Given the description of an element on the screen output the (x, y) to click on. 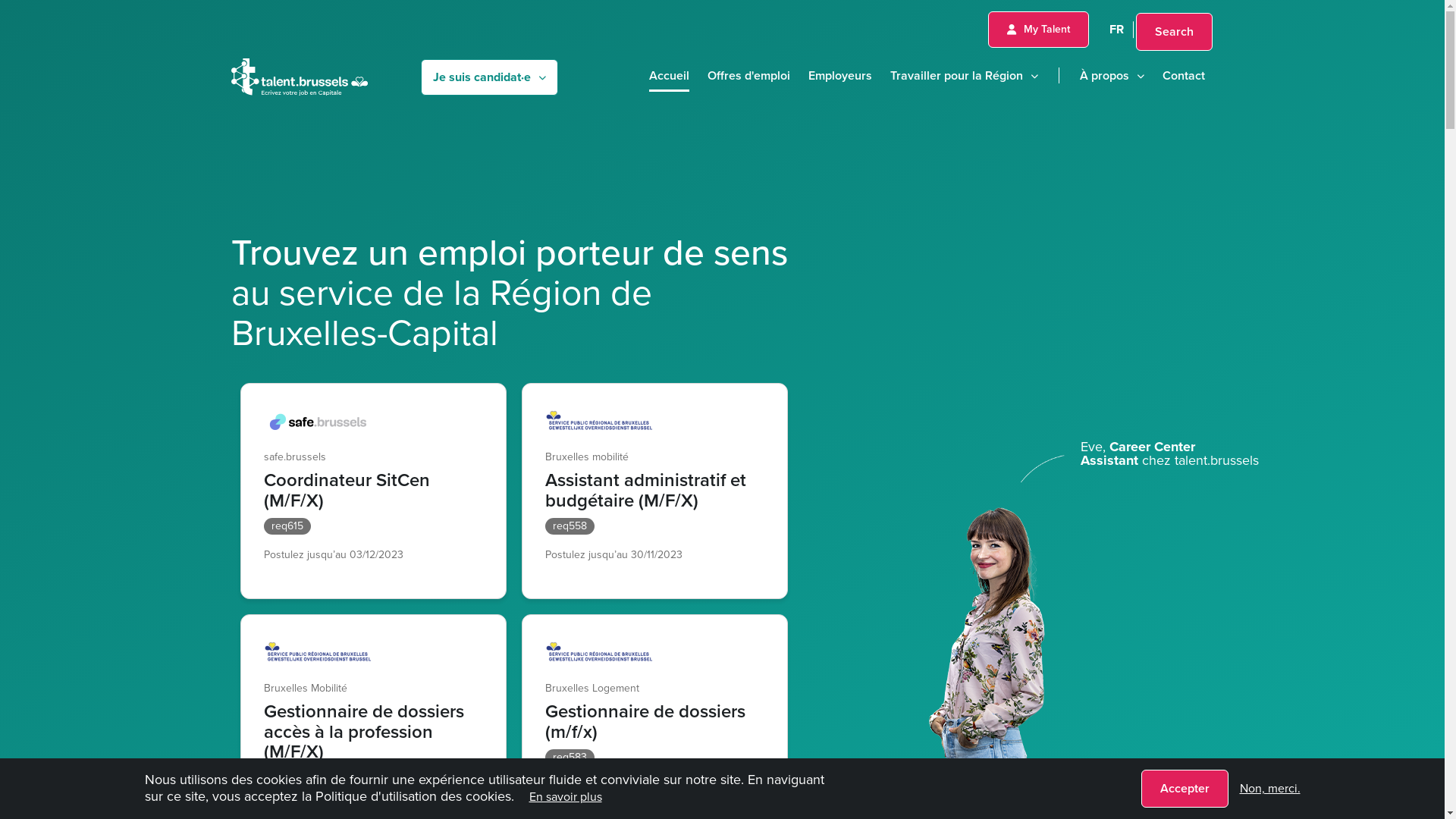
Accepter Element type: text (1183, 788)
FR Element type: text (1115, 28)
My Talent Element type: text (1037, 29)
NL Element type: text (1149, 28)
Non, merci. Element type: text (1269, 788)
Search Element type: text (1173, 31)
Contact Element type: text (1182, 75)
Offres d'emploi Element type: text (747, 75)
Accueil Element type: text (669, 75)
En savoir plus Element type: text (565, 796)
Employeurs Element type: text (840, 75)
